Given the description of an element on the screen output the (x, y) to click on. 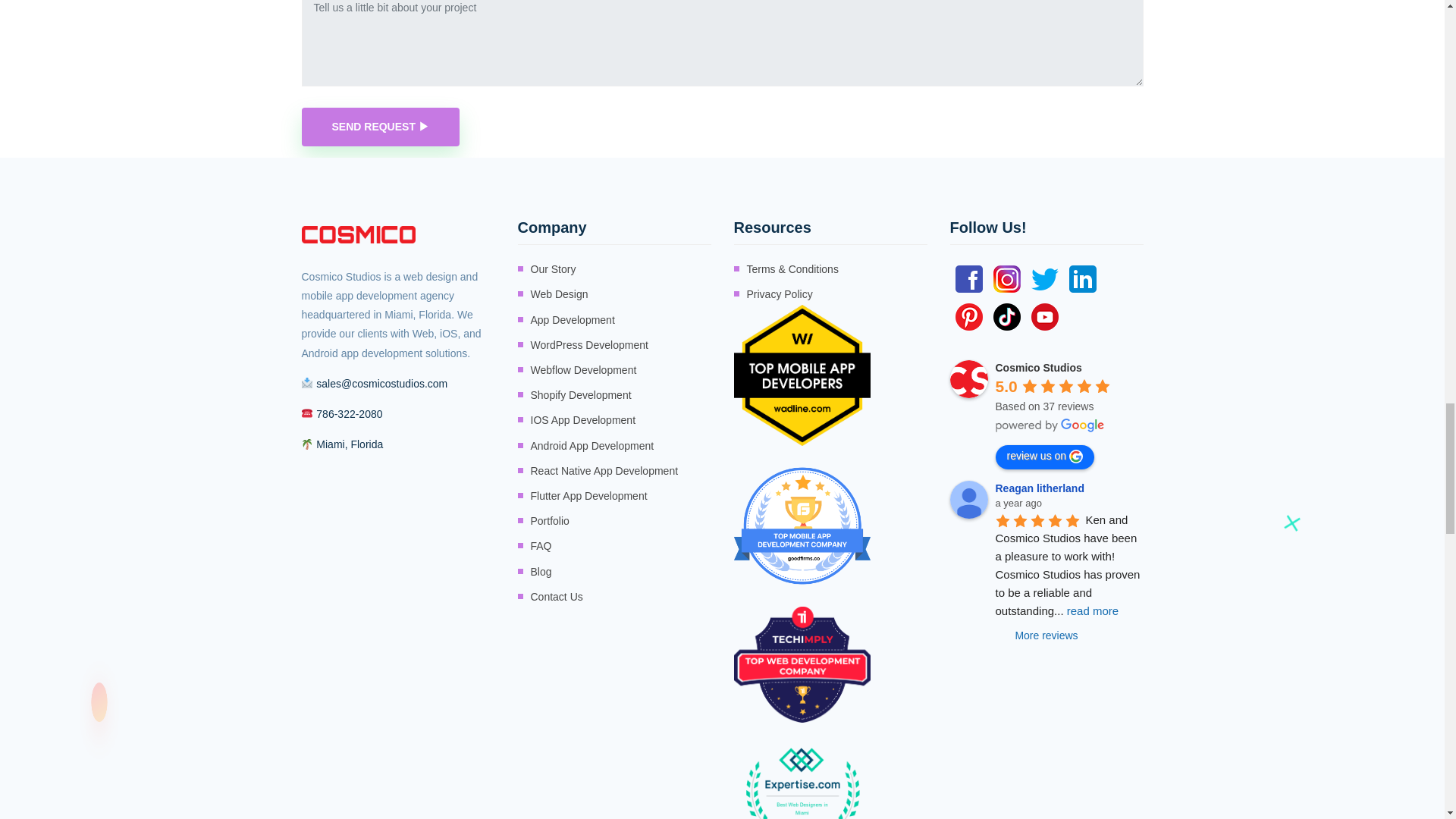
Privacy Policy (778, 294)
Contact Us (557, 597)
WordPress Development (589, 344)
Miami, Florida (348, 444)
Flutter App Development (589, 496)
FAQ (541, 546)
Reagan litherland (968, 499)
Web Design (559, 294)
Our Story (553, 269)
Android App Development (592, 445)
Blog (541, 571)
Portfolio (550, 520)
786-322-2080 (348, 414)
App Development (572, 320)
